Given the description of an element on the screen output the (x, y) to click on. 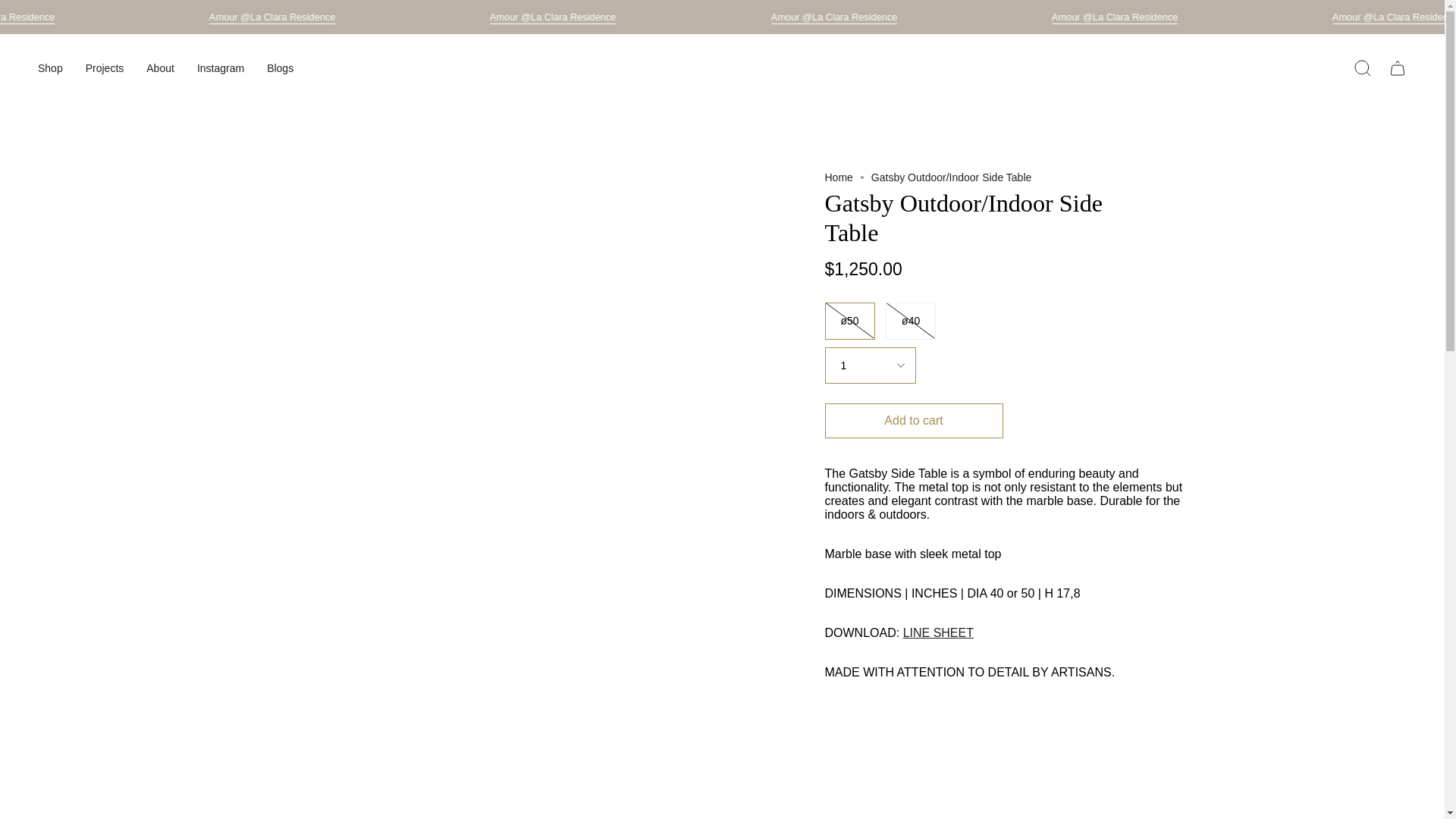
Amour Palm Beach (938, 632)
Projects (104, 68)
Instagram (221, 68)
